Given the description of an element on the screen output the (x, y) to click on. 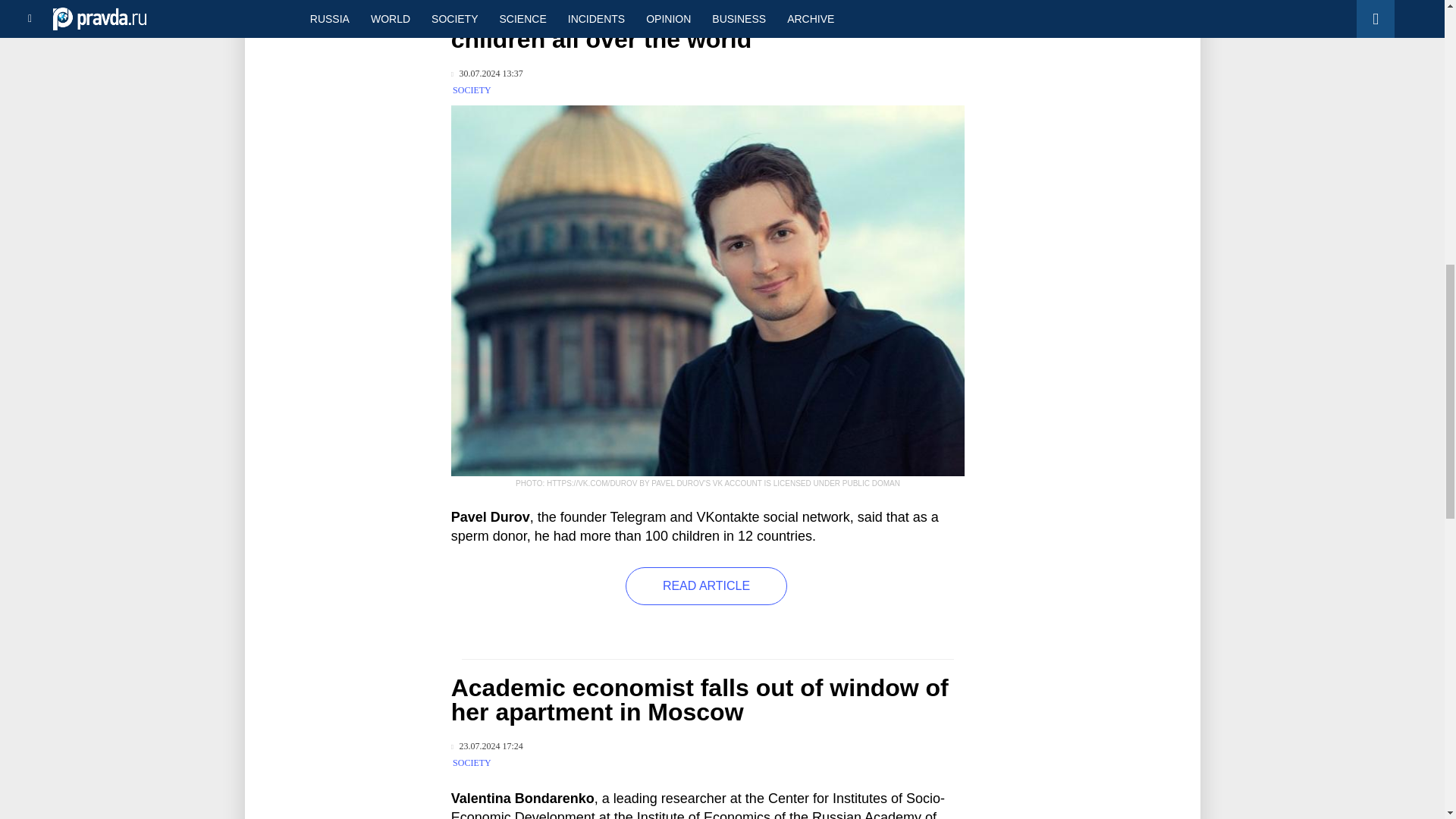
Back to top (1418, 79)
Published (486, 73)
Published (486, 746)
SOCIETY (472, 90)
